Given the description of an element on the screen output the (x, y) to click on. 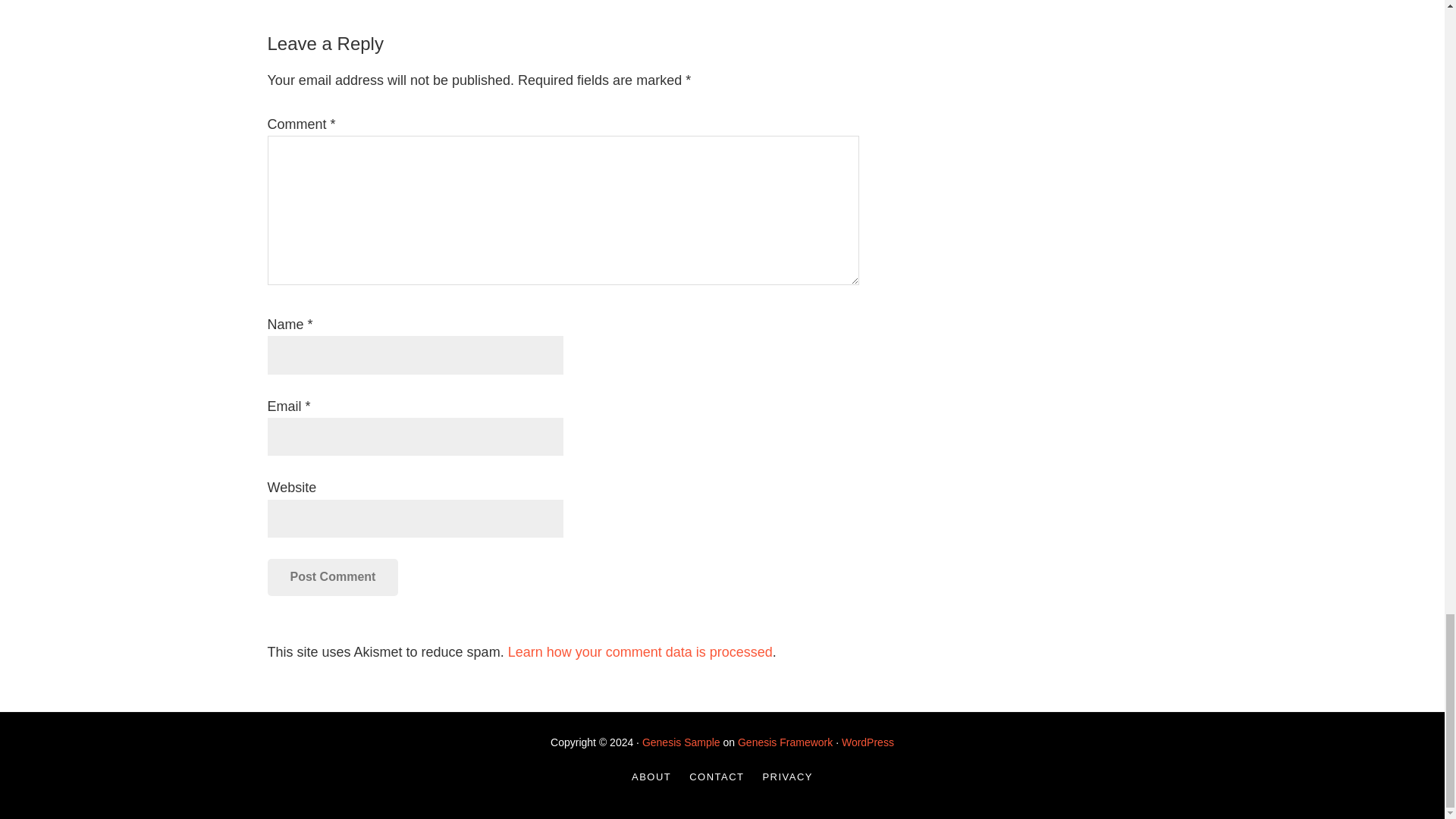
Post Comment (331, 576)
Post Comment (331, 576)
Learn how your comment data is processed (640, 652)
